Given the description of an element on the screen output the (x, y) to click on. 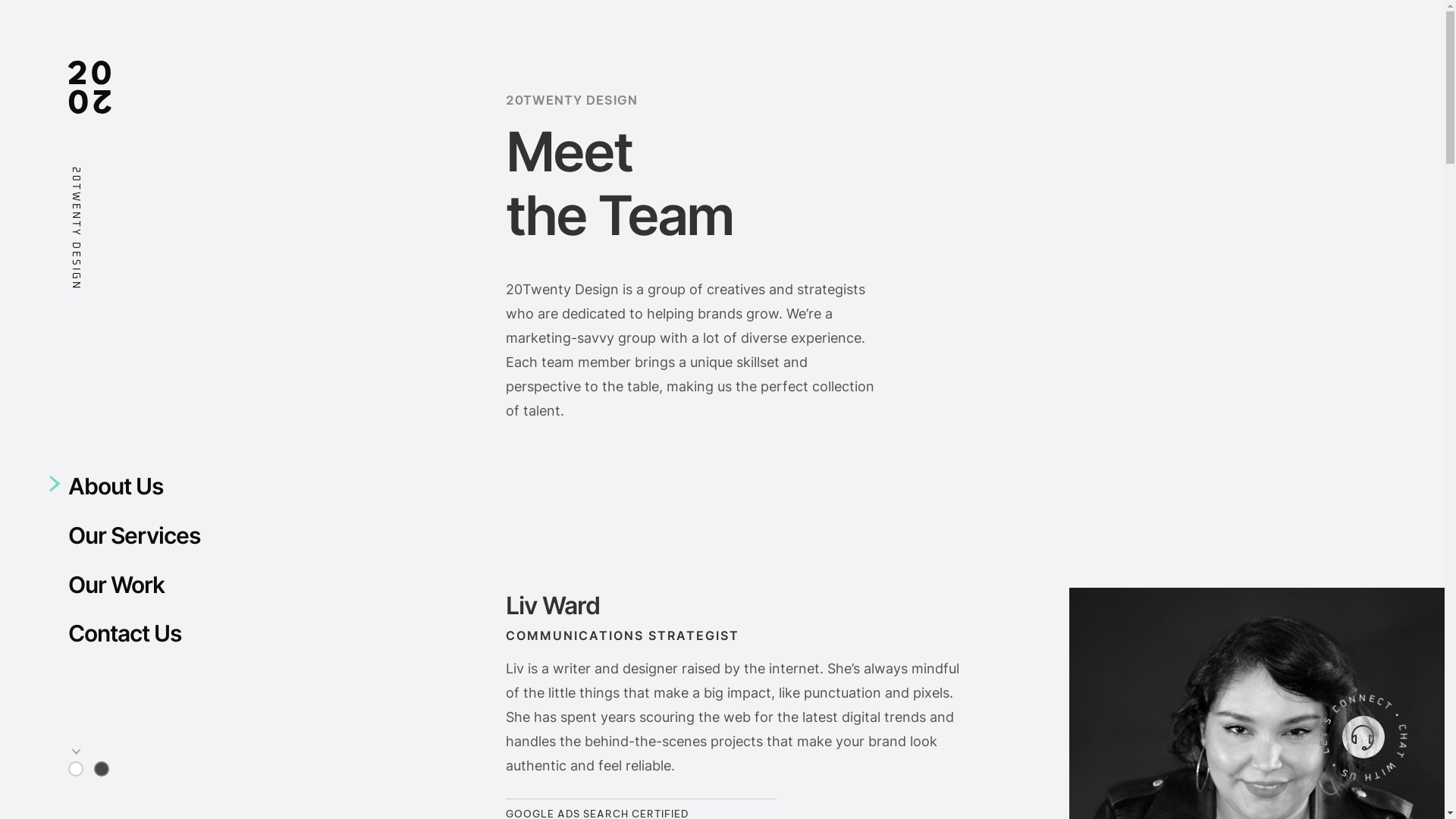
20Twenty Design Element type: text (124, 305)
Click here to contact us Element type: hover (1363, 736)
Switch to light theme Element type: hover (75, 768)
Our Work Element type: text (116, 591)
About Us Element type: text (153, 492)
Switch to dark theme Element type: hover (101, 768)
Our Services Element type: text (156, 542)
Contact Us Element type: text (124, 639)
